Given the description of an element on the screen output the (x, y) to click on. 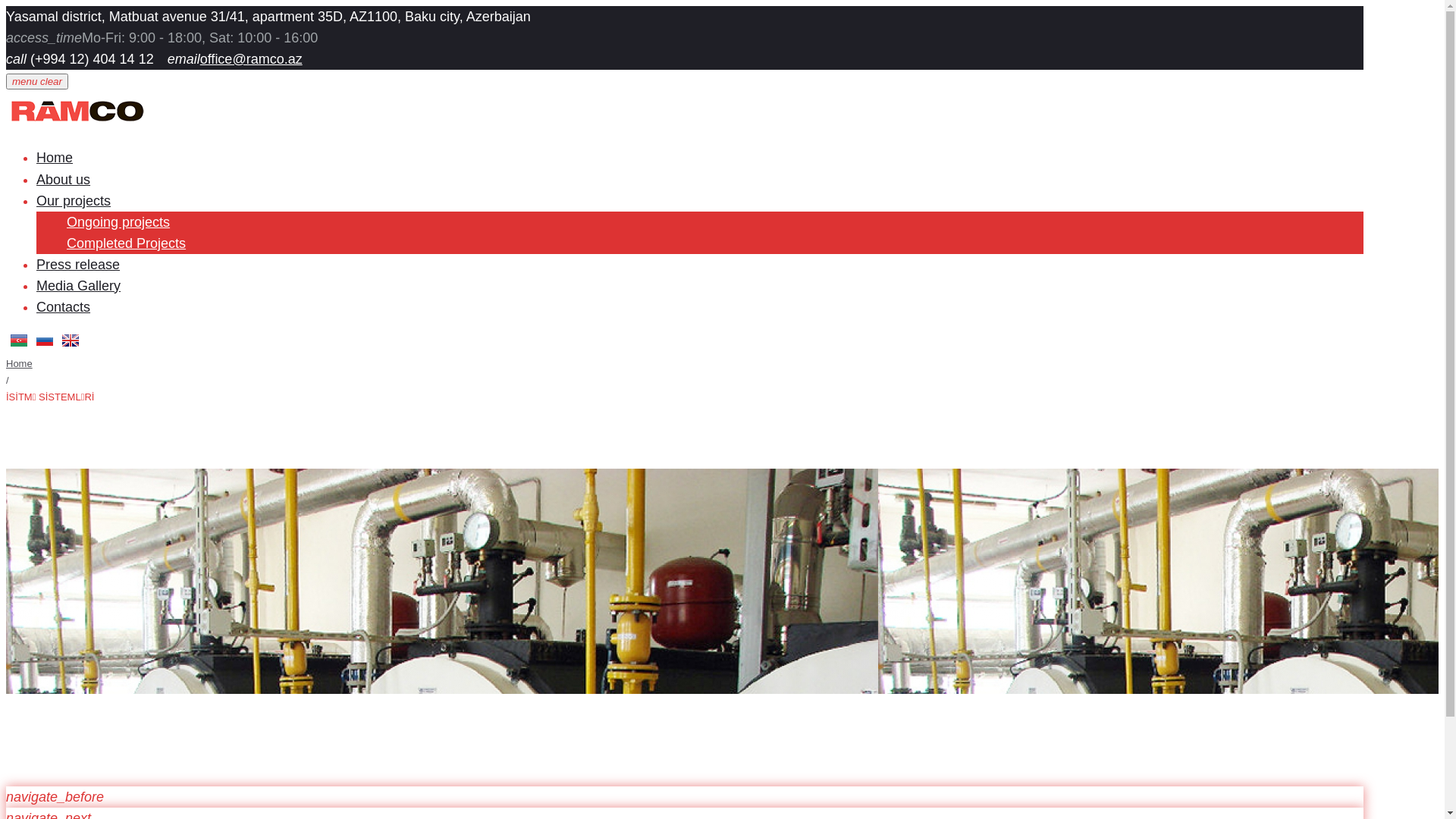
Completed Projects Element type: text (125, 243)
About us Element type: text (63, 179)
Our projects Element type: text (73, 200)
Press release Element type: text (77, 264)
Contacts Element type: text (63, 306)
office@ramco.az Element type: text (251, 58)
Media Gallery Element type: text (78, 285)
Home Element type: text (19, 363)
(+994 12) 404 14 12 Element type: text (89, 58)
menu clear Element type: text (37, 81)
Home Element type: text (54, 157)
Ongoing projects Element type: text (117, 221)
